Given the description of an element on the screen output the (x, y) to click on. 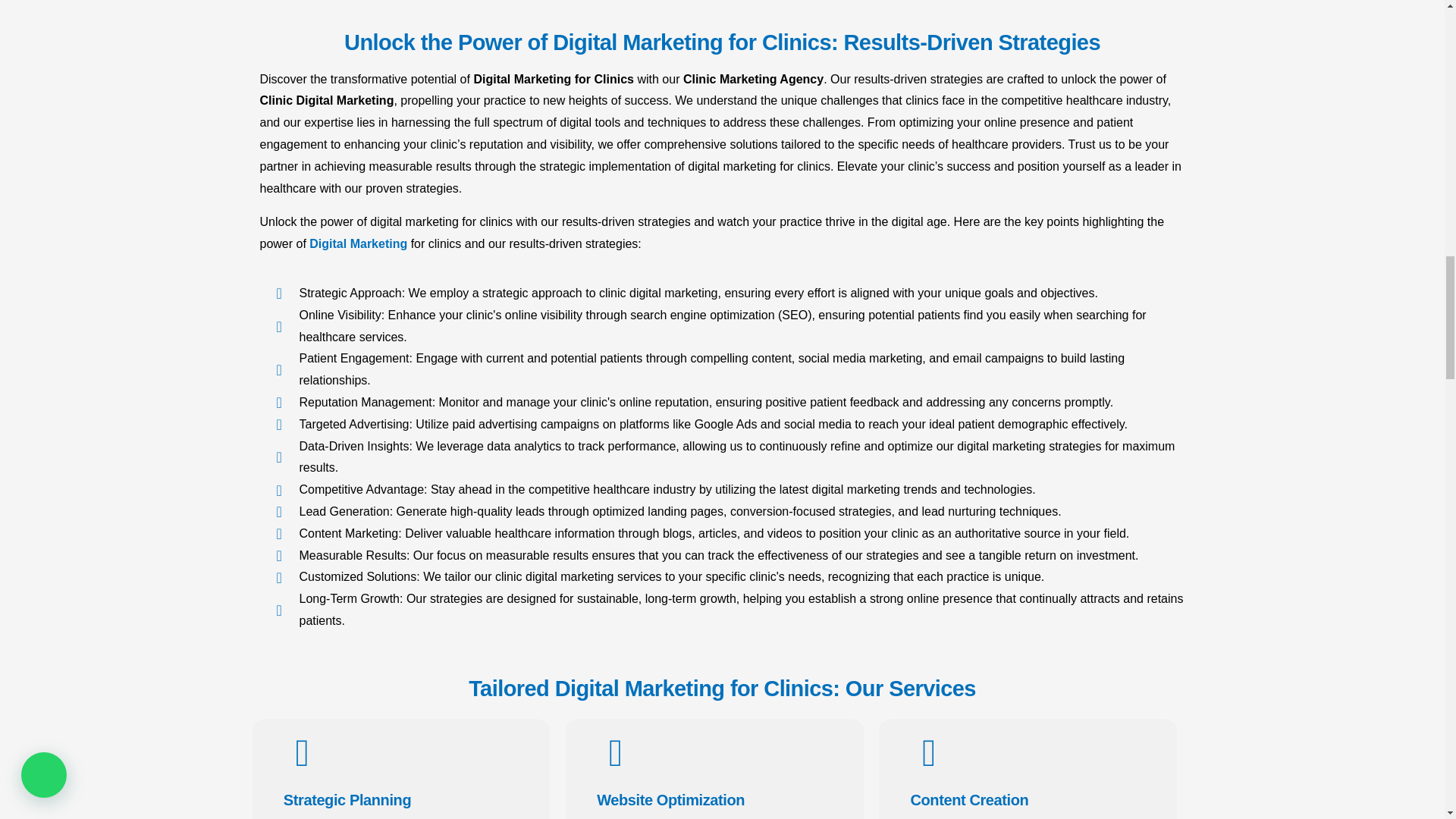
Digital Marketing (357, 243)
